Given the description of an element on the screen output the (x, y) to click on. 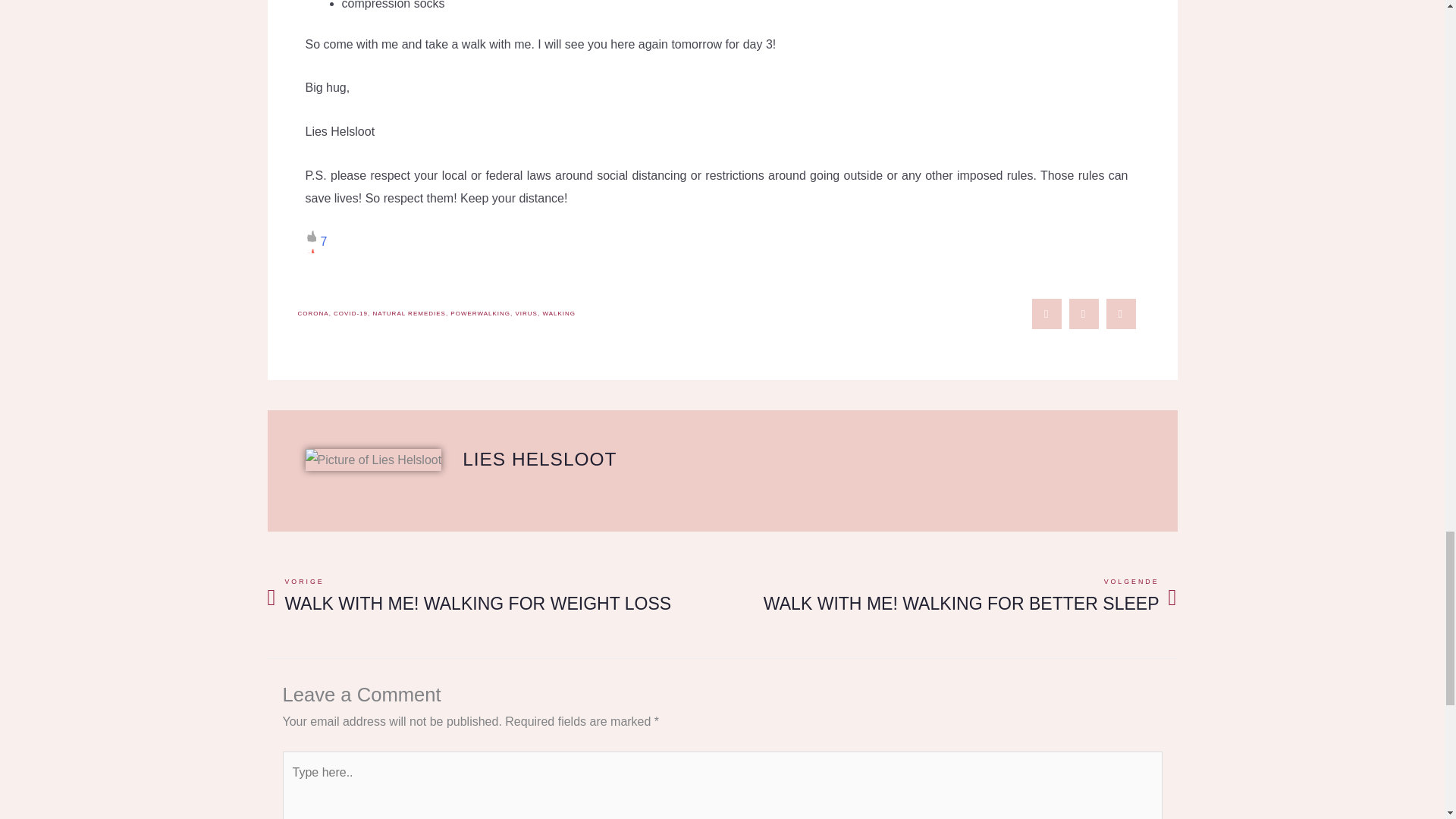
Recommend this (315, 241)
7 (315, 241)
COVID-19 (350, 313)
CORONA (313, 313)
